Given the description of an element on the screen output the (x, y) to click on. 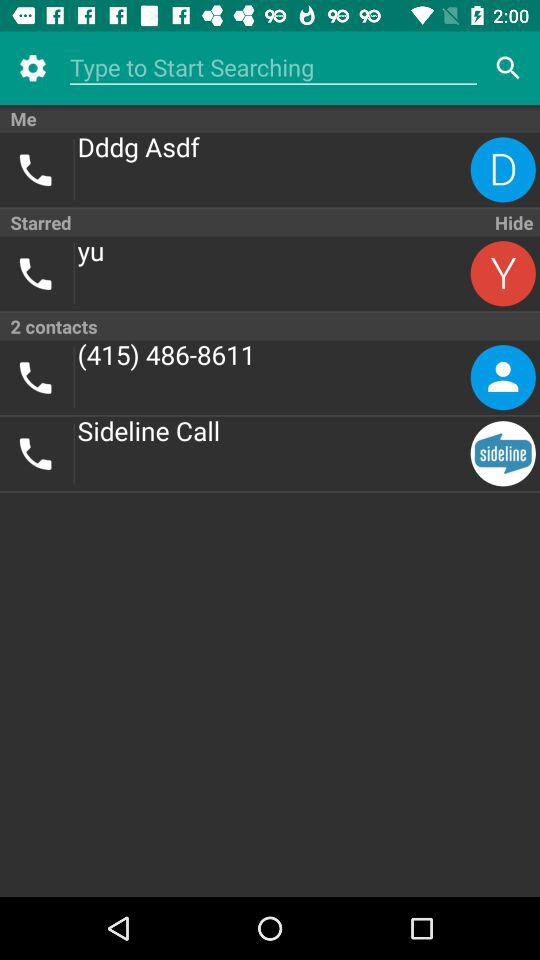
open icon above the me item (273, 67)
